Given the description of an element on the screen output the (x, y) to click on. 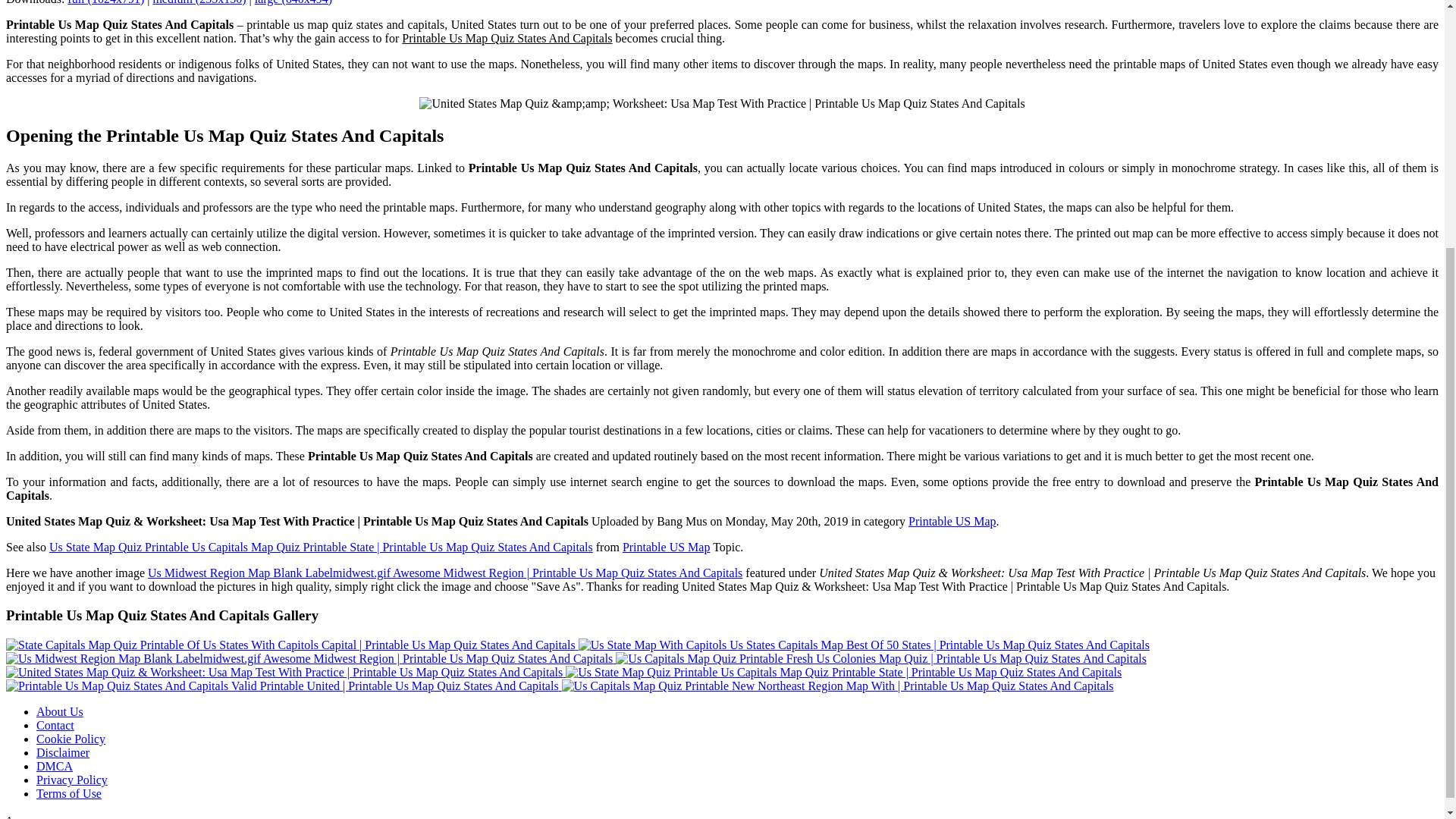
Printable US Map (951, 521)
Cookie Policy (70, 738)
Contact (55, 725)
Privacy Policy (71, 779)
Terms of Use (68, 793)
About Us (59, 711)
DMCA (54, 766)
Disclaimer (62, 752)
Printable US Map (666, 546)
